Given the description of an element on the screen output the (x, y) to click on. 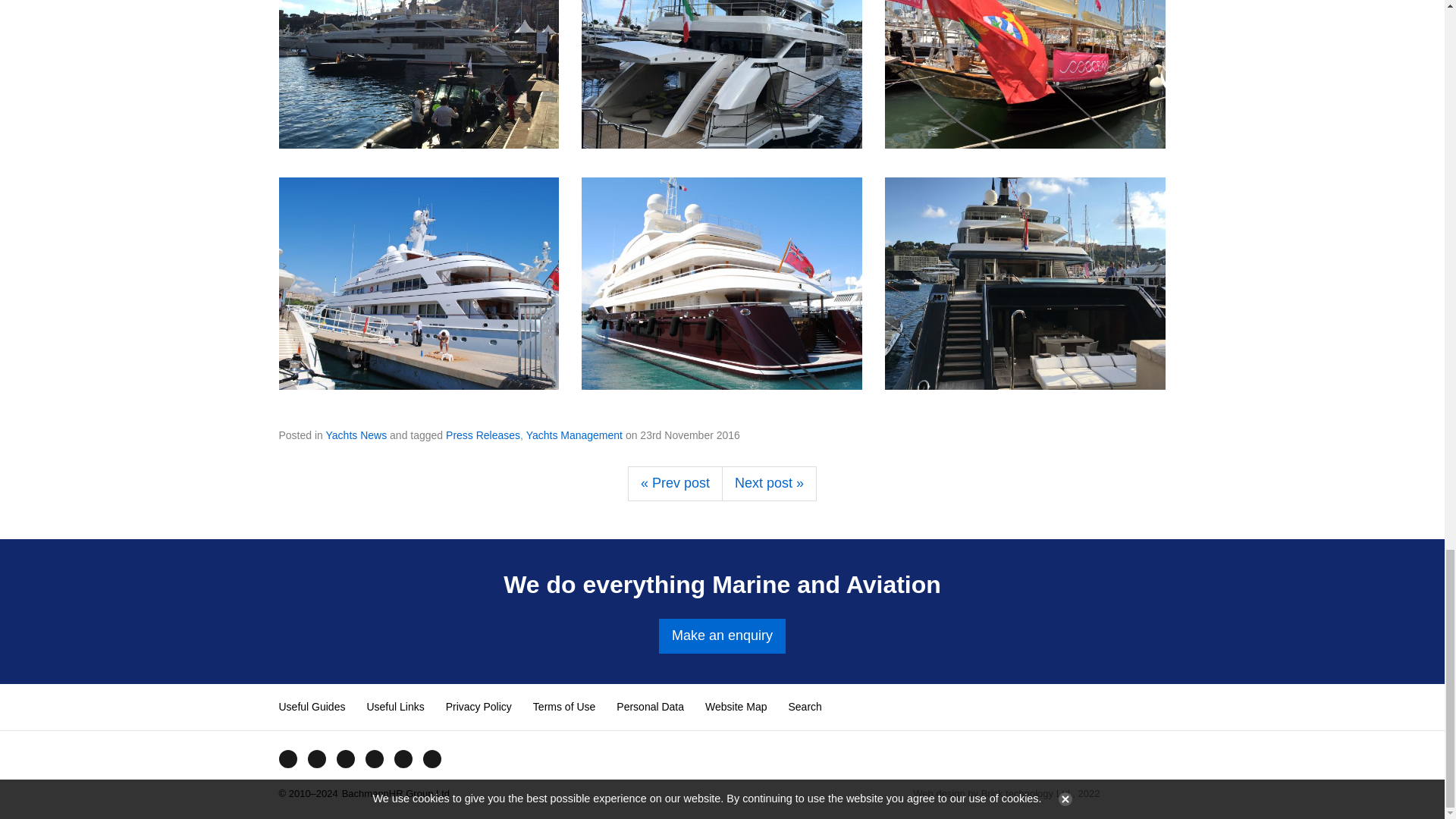
Instagram (373, 758)
LinkedIn (402, 758)
Newsletter (430, 758)
YouTube (344, 758)
Twitter (315, 758)
Facebook (287, 758)
Website designed and maintained by Brick technology Ltd. (1139, 793)
